Given the description of an element on the screen output the (x, y) to click on. 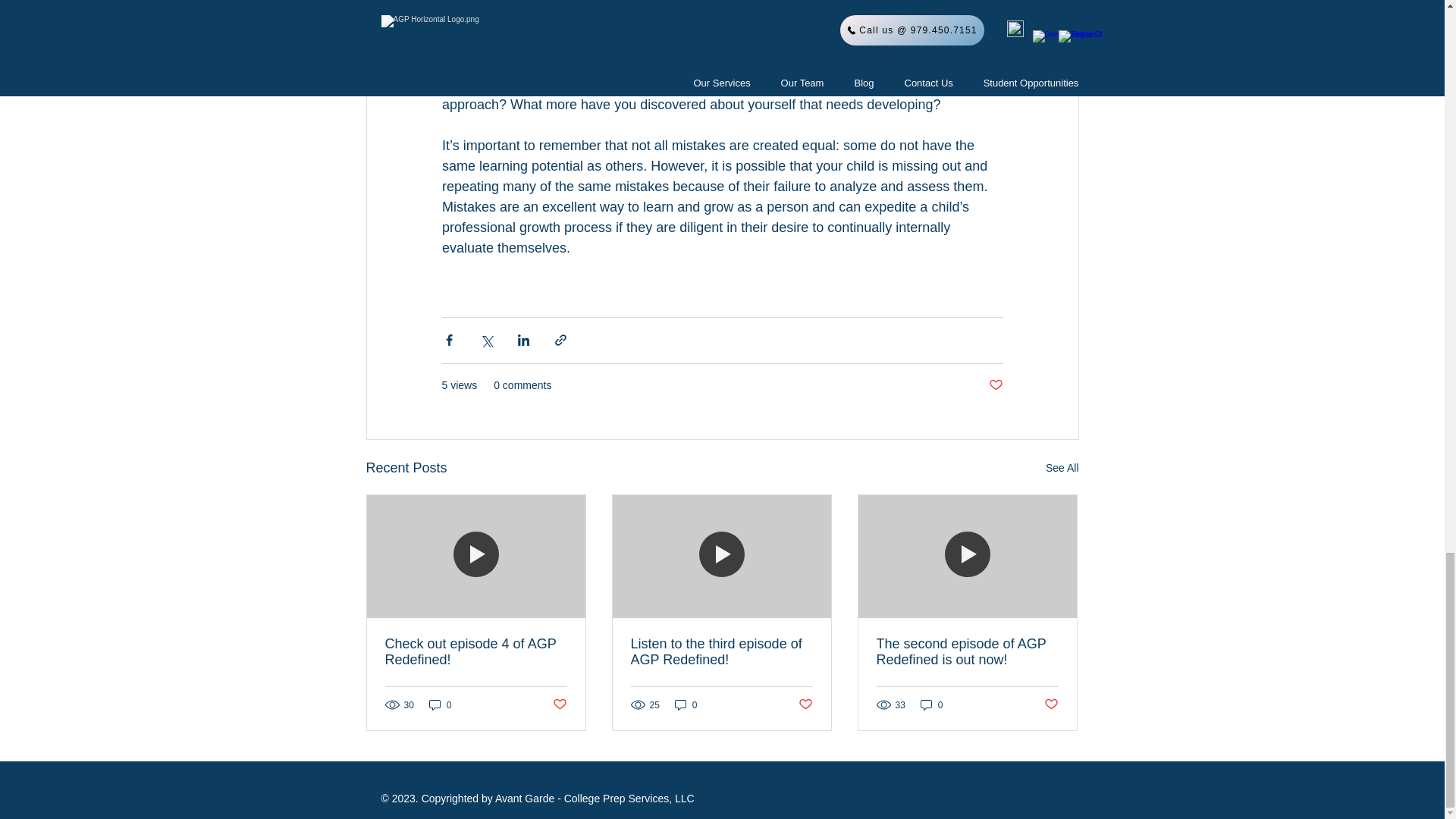
Post not marked as liked (804, 704)
0 (685, 704)
Post not marked as liked (1050, 704)
Listen to the third episode of AGP Redefined! (721, 652)
0 (440, 704)
Post not marked as liked (558, 704)
The second episode of AGP Redefined is out now! (967, 652)
See All (1061, 468)
Post not marked as liked (995, 385)
0 (931, 704)
Check out episode 4 of AGP Redefined! (476, 652)
